Given the description of an element on the screen output the (x, y) to click on. 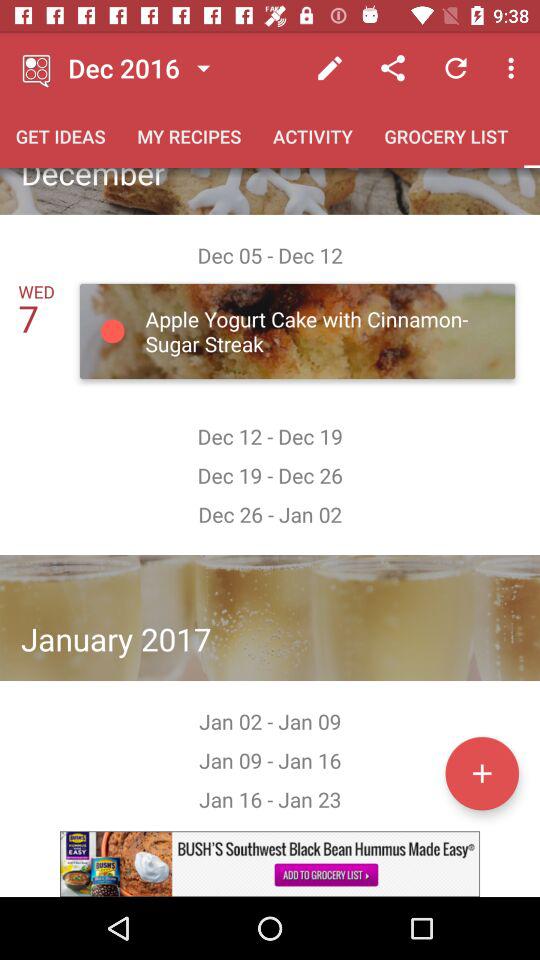
add a recipe (482, 773)
